Given the description of an element on the screen output the (x, y) to click on. 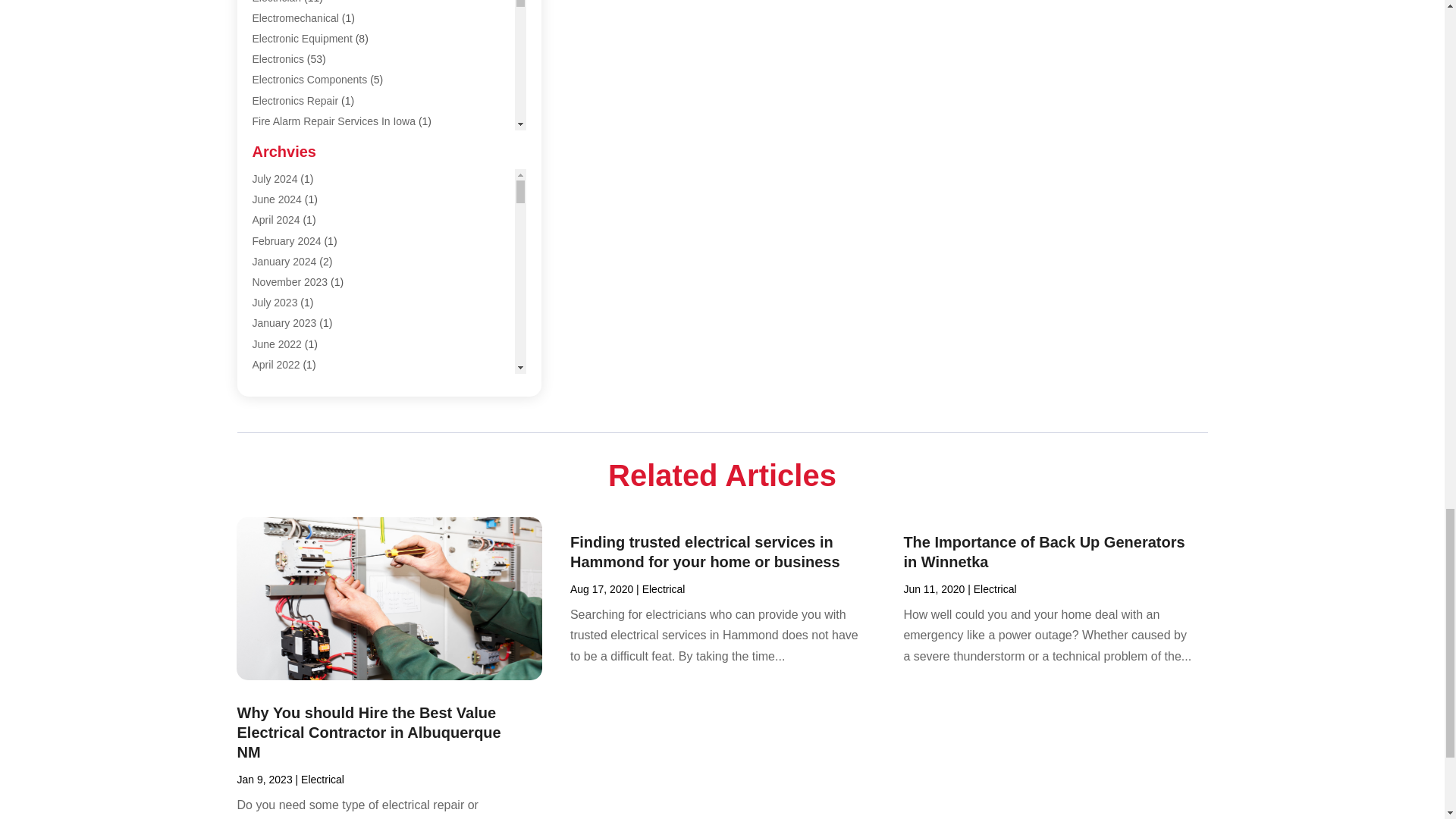
Electronics Components (308, 79)
Electromechanical (294, 18)
Electronic Equipment (301, 38)
Electronics Repair (294, 101)
Furniture (272, 141)
Electrician (276, 2)
Electronics (276, 59)
Gold Dealer (279, 162)
Fire Alarm Repair Services In Iowa (332, 121)
